Given the description of an element on the screen output the (x, y) to click on. 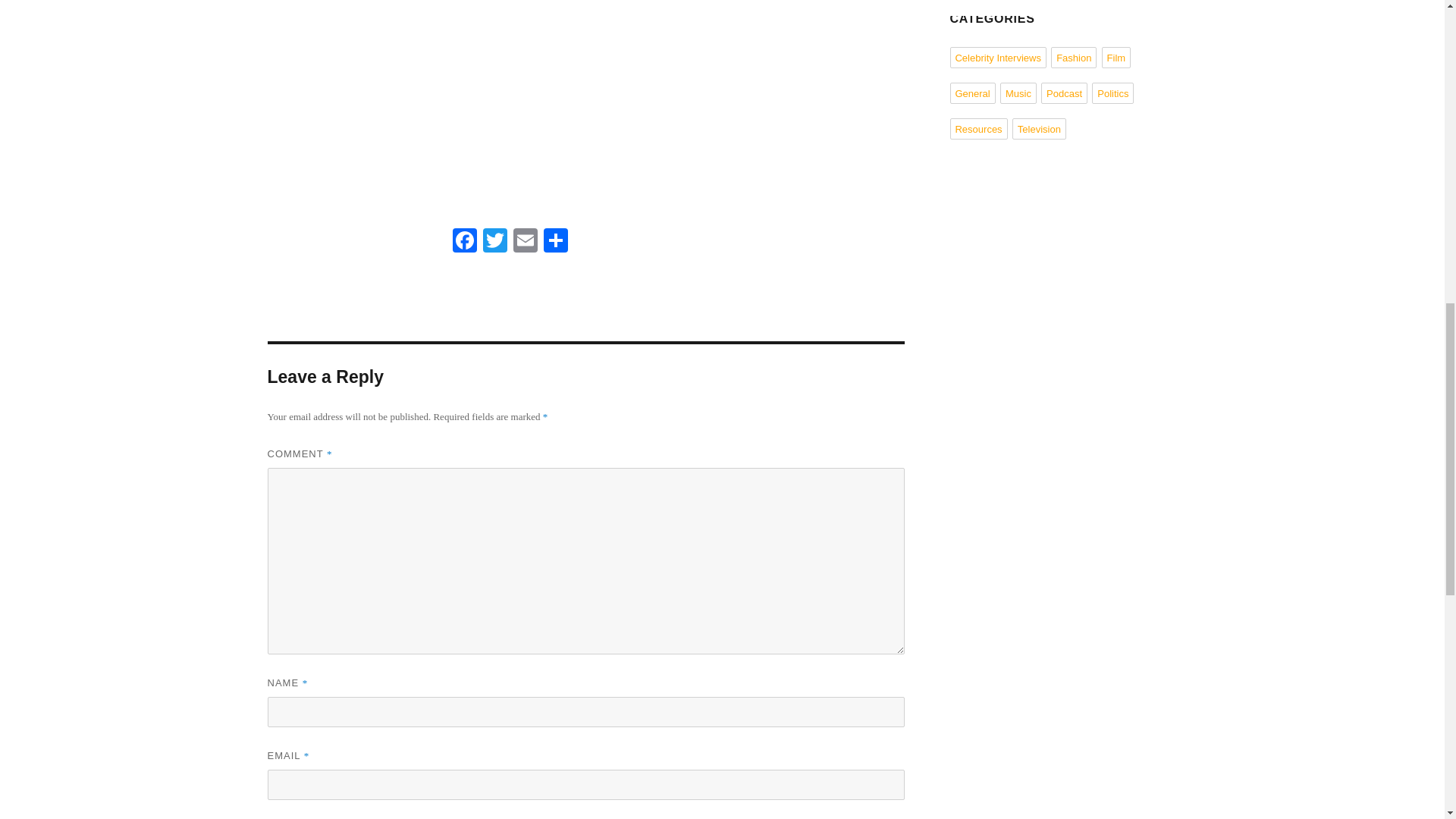
Celebrity Interviews (997, 56)
Email (524, 242)
Twitter (494, 242)
Facebook (463, 242)
General (971, 93)
Twitter (494, 242)
Fashion (1073, 56)
Music (1018, 93)
Email (524, 242)
Film (1116, 56)
